Given the description of an element on the screen output the (x, y) to click on. 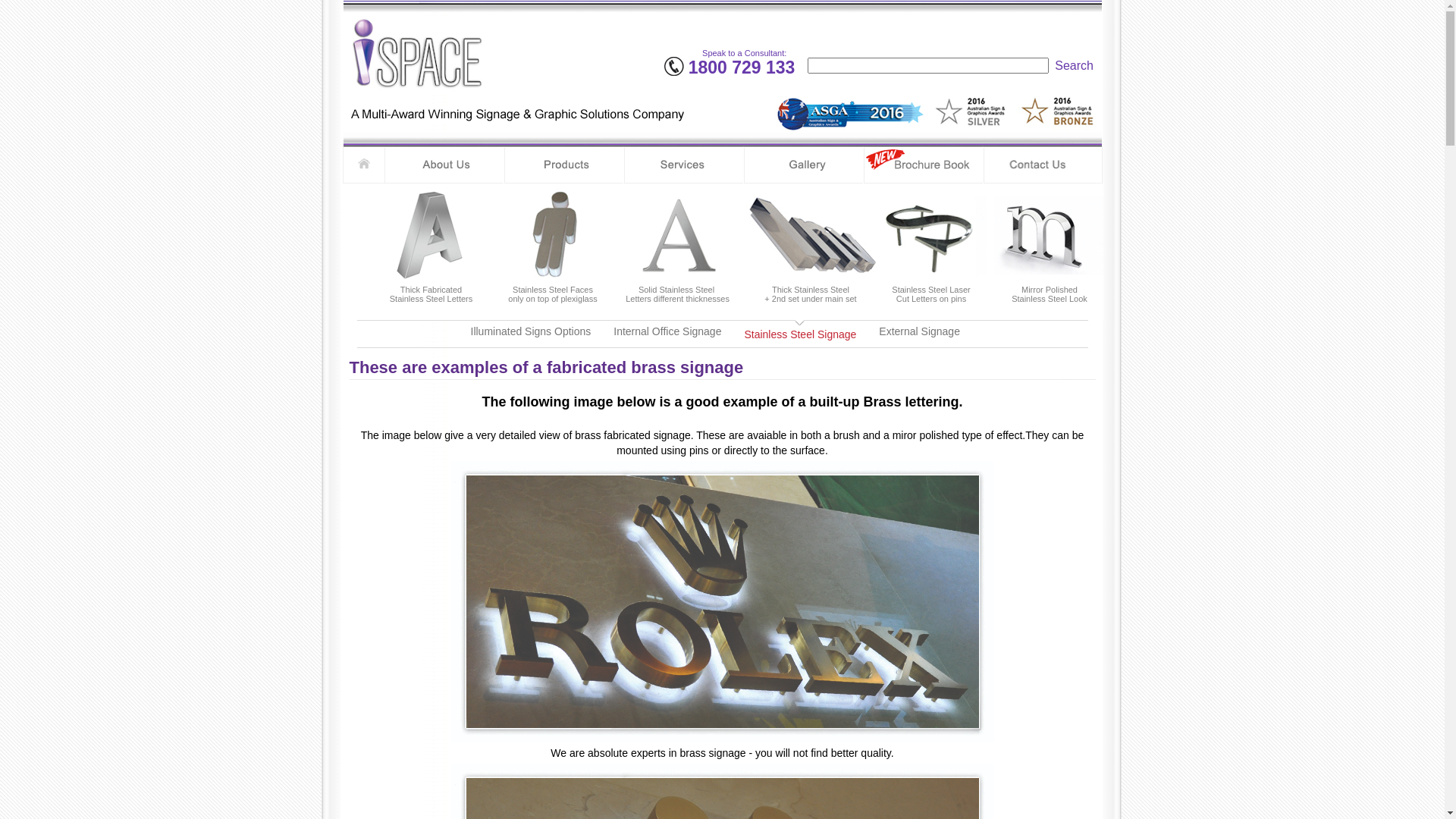
Mirror Polished
Stainless Steel Look Element type: text (1048, 243)
Thick Fabricated
Stainless Steel Letters Element type: text (431, 243)
Search Element type: text (1074, 65)
 Solid Stainless Steel
  Letters different thicknesses Element type: text (674, 243)
Search Element type: text (1073, 65)
Internal Office Signage Element type: text (667, 331)
Thick Stainless Steel
+ 2nd set under main set Element type: text (810, 243)
Illuminated Signs Options Element type: text (530, 331)
Stainless Steel Laser
Cut Letters on pins Element type: text (931, 243)
Stainless Steel Faces
only on top of plexiglass Element type: text (552, 243)
External Signage Element type: text (919, 331)
Stainless Steel Signage Element type: text (799, 334)
